Given the description of an element on the screen output the (x, y) to click on. 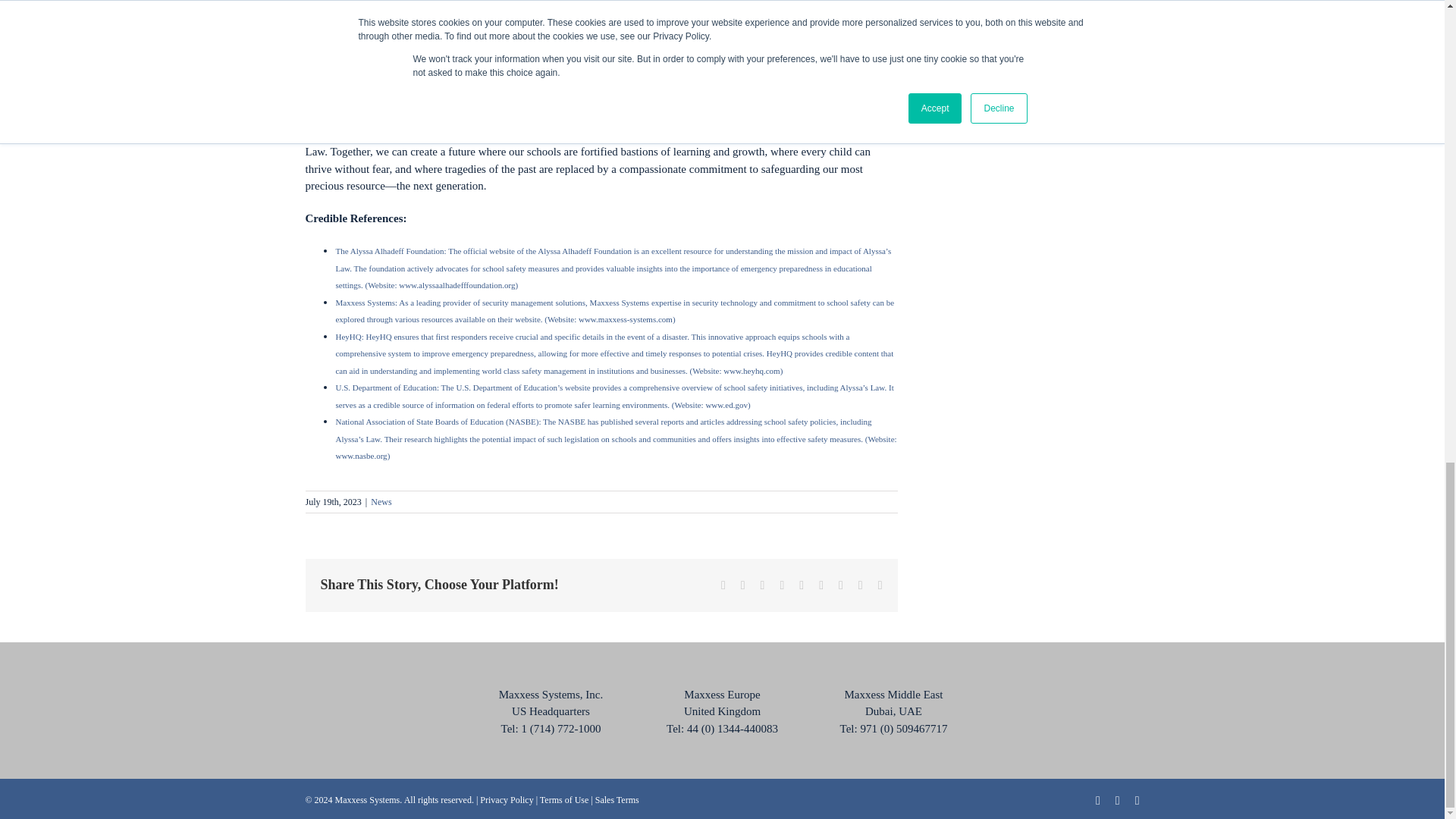
www.ed.gov (726, 404)
News (381, 501)
www.maxxess-systems.com (625, 318)
www.nasbe.org (360, 455)
www.heyhq.com (749, 370)
